Given the description of an element on the screen output the (x, y) to click on. 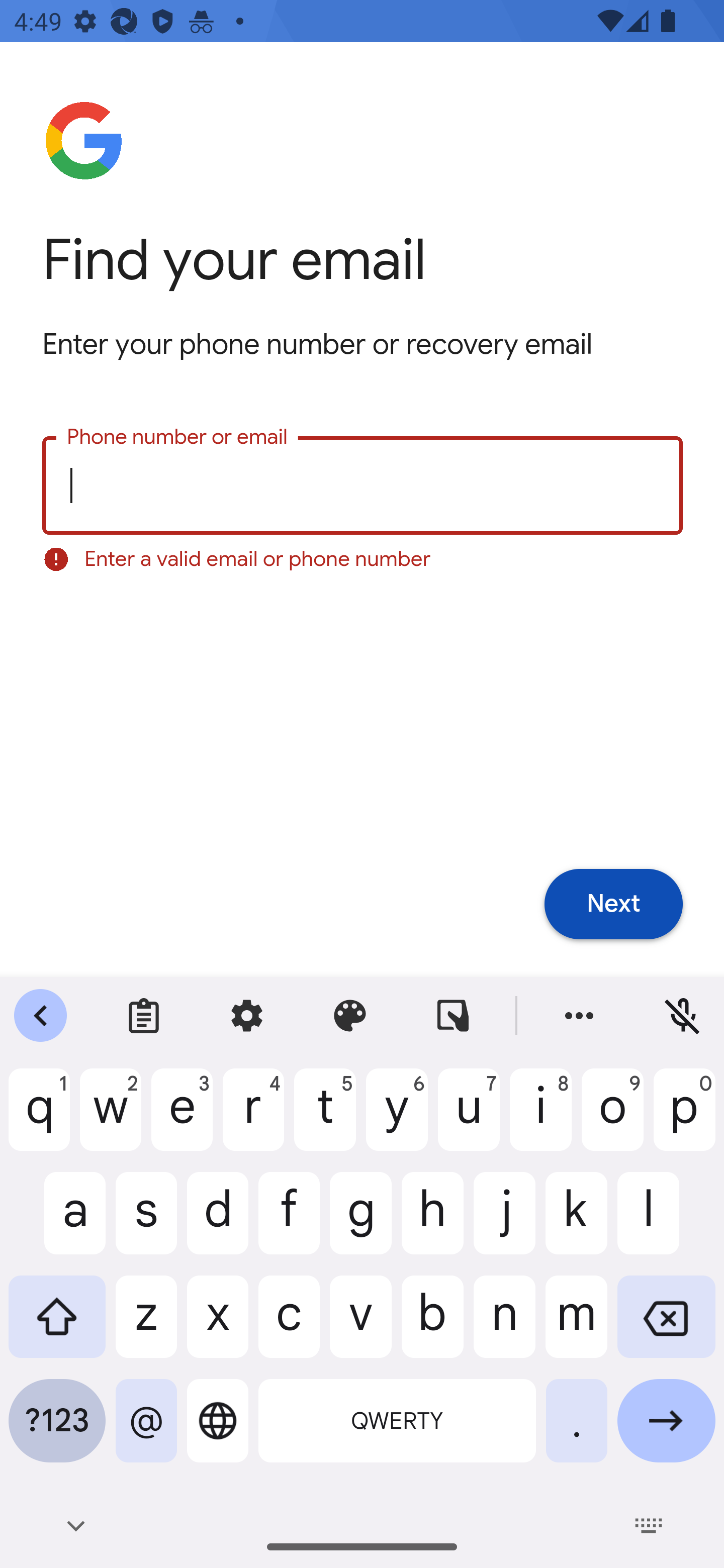
Next (613, 904)
